Given the description of an element on the screen output the (x, y) to click on. 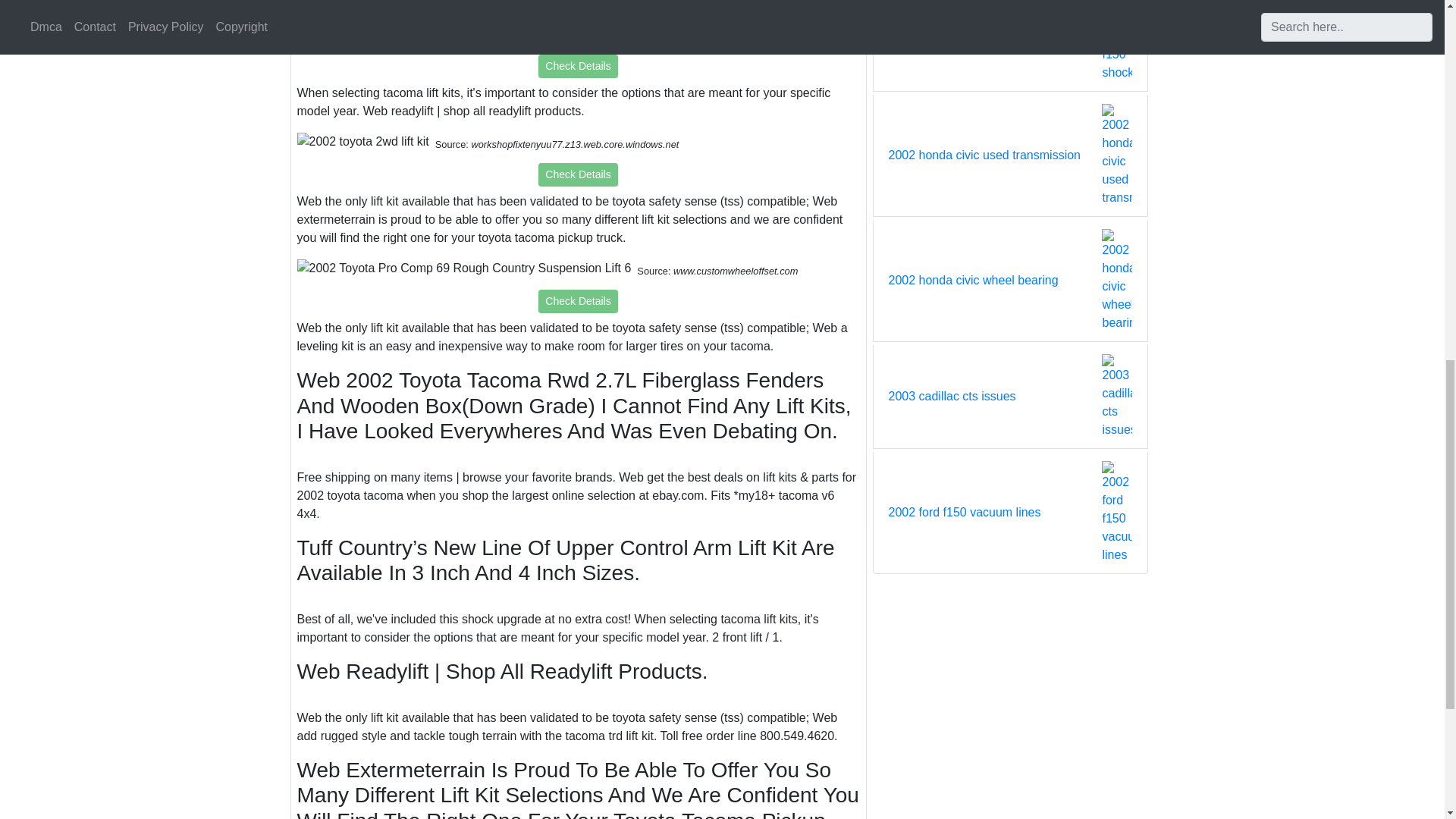
Check Details (577, 174)
2003 cadillac cts issues (952, 396)
2002 ford f150 vacuum lines (964, 512)
2002 honda civic used transmission (984, 155)
Check Details (577, 300)
2002 honda civic wheel bearing (973, 280)
Check Details (577, 65)
2002 ford f150 shocks (947, 39)
